Given the description of an element on the screen output the (x, y) to click on. 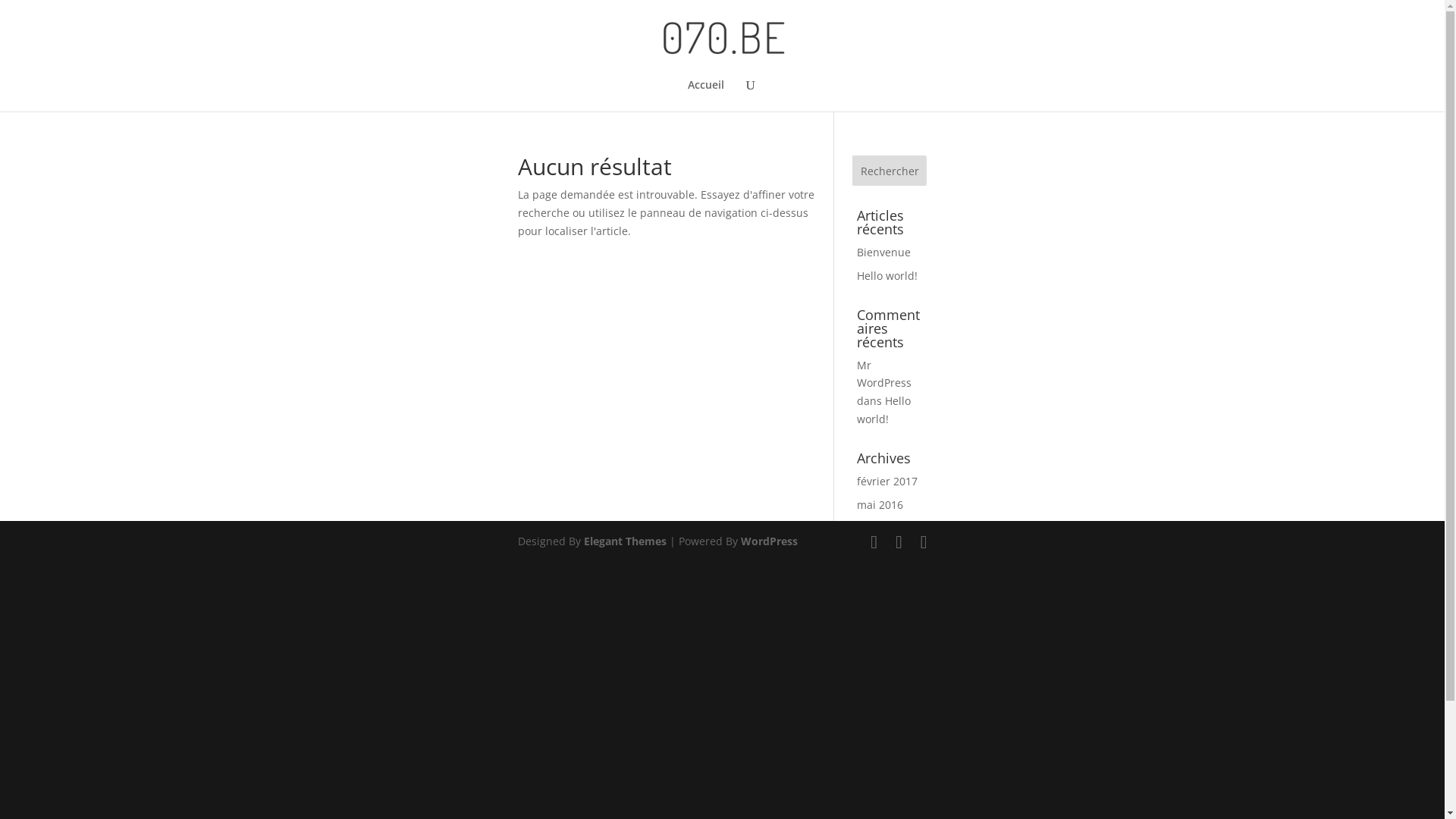
Accueil Element type: text (705, 95)
Rechercher Element type: text (889, 170)
mai 2016 Element type: text (879, 504)
Mr WordPress Element type: text (883, 373)
WordPress Element type: text (768, 540)
Hello world! Element type: text (886, 275)
Hello world! Element type: text (883, 409)
Elegant Themes Element type: text (624, 540)
Bienvenue Element type: text (883, 251)
